Given the description of an element on the screen output the (x, y) to click on. 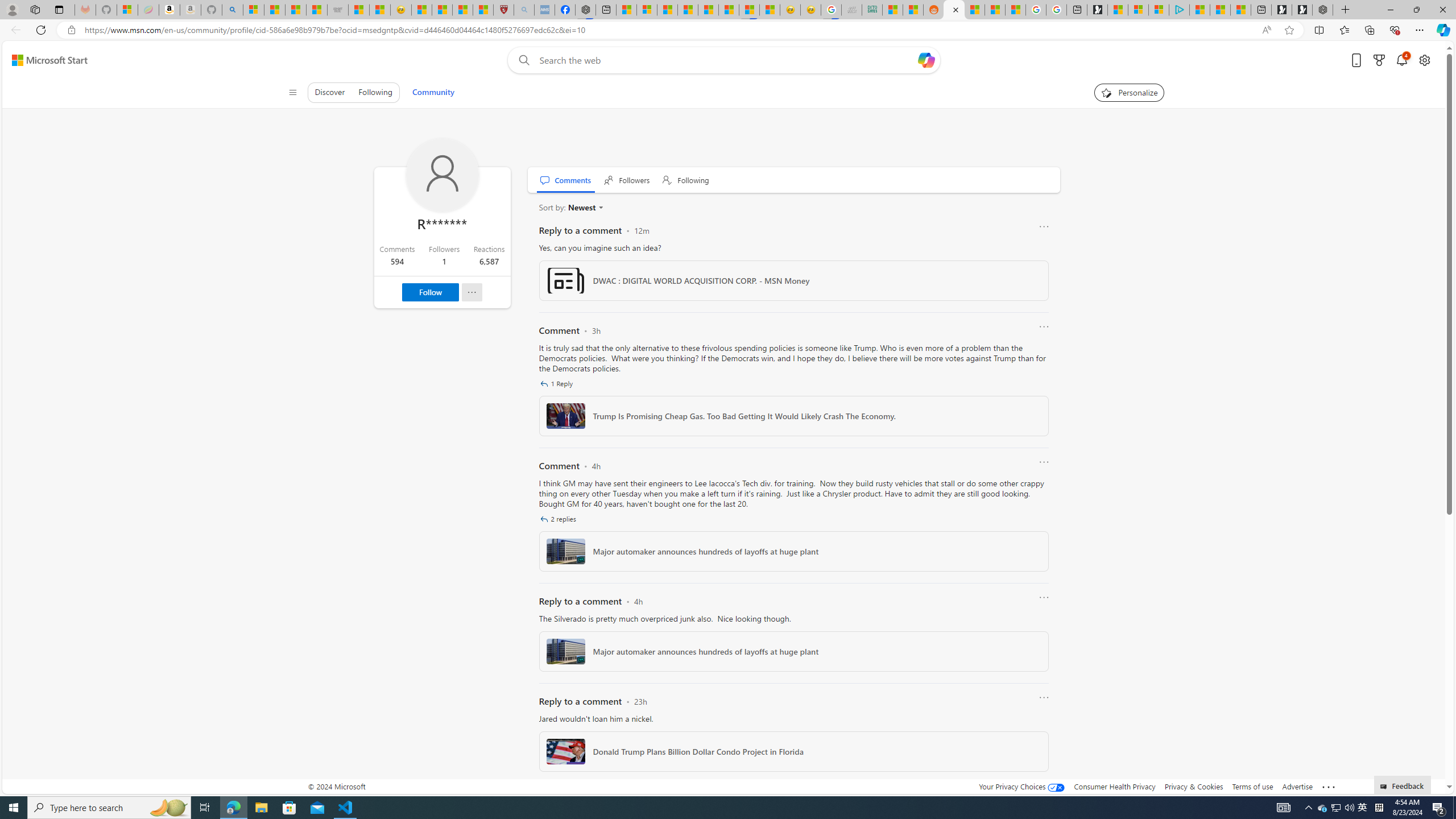
R******* | Trusted Community Engagement and Contributions (954, 9)
